Given the description of an element on the screen output the (x, y) to click on. 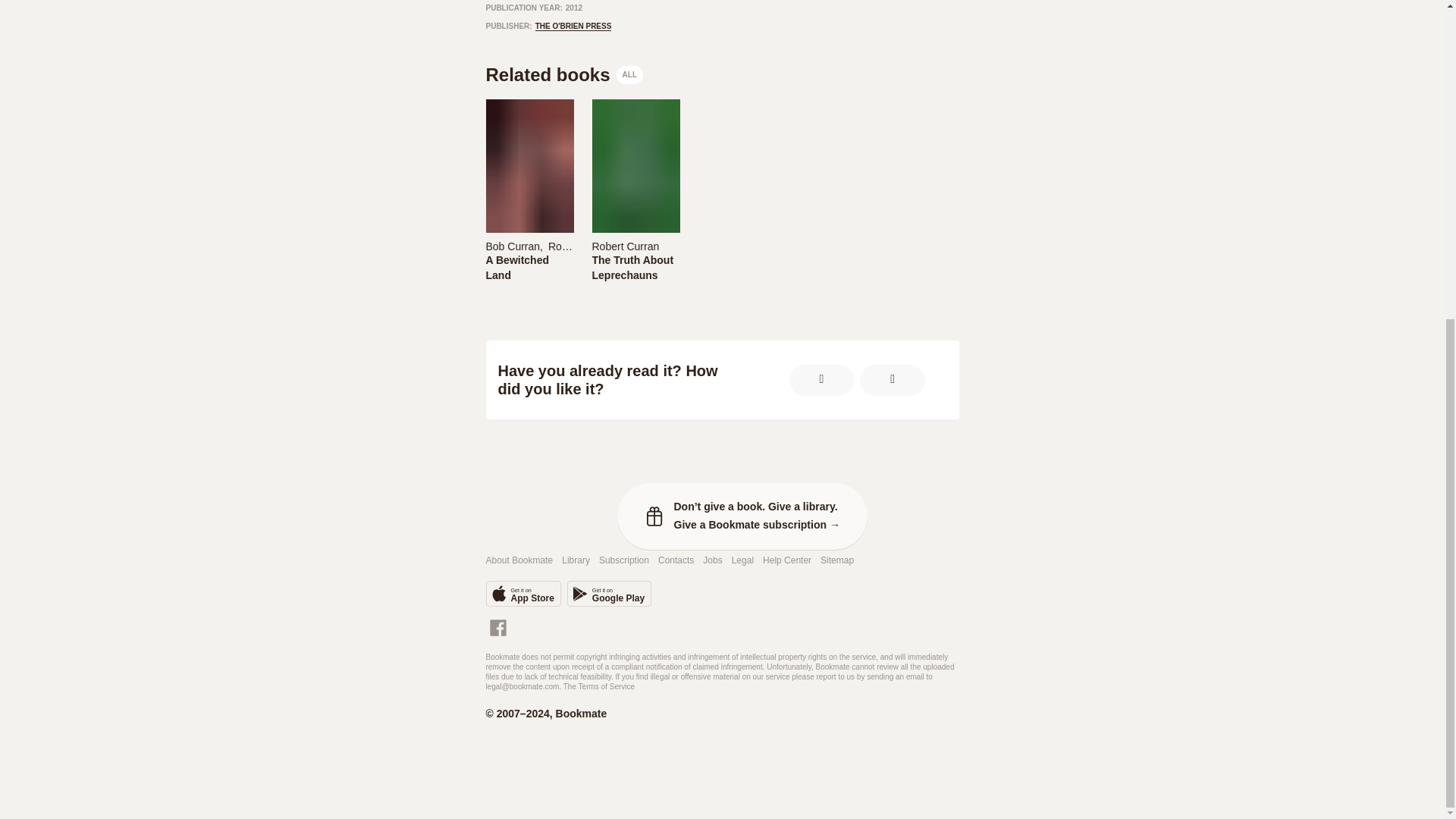
About Bookmate (518, 560)
Contacts (676, 560)
Jobs (712, 560)
A Bewitched Land (528, 267)
The Truth About Leprechauns (522, 593)
THE O'BRIEN PRESS (634, 267)
Subscription (573, 26)
Help Center (623, 560)
The Truth About Leprechauns (786, 560)
The Terms of Service (634, 267)
Legal (598, 686)
Bob Curran, Robert Curran (743, 560)
Robert Curran (528, 245)
